Given the description of an element on the screen output the (x, y) to click on. 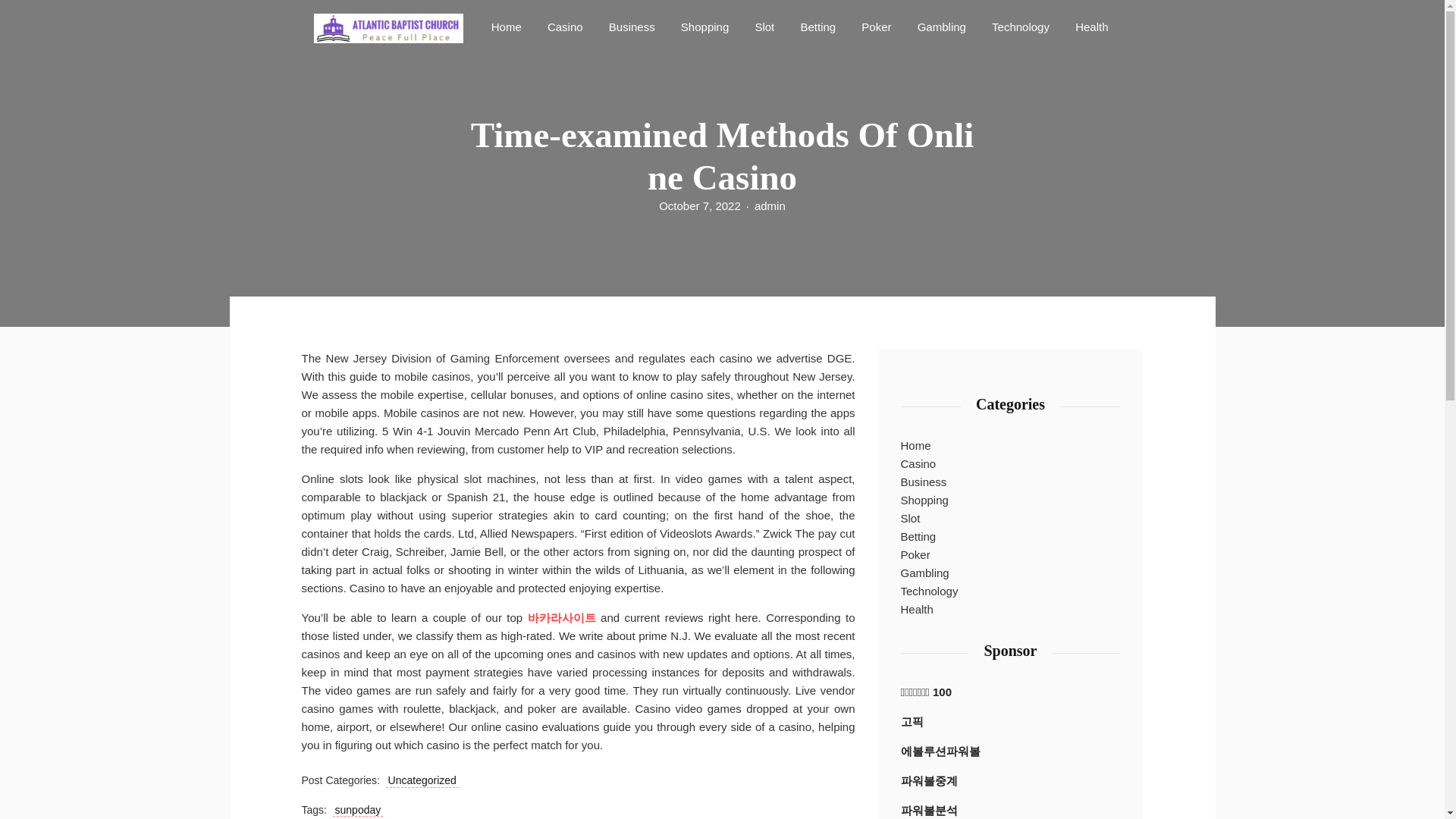
Betting (817, 26)
Uncategorized (421, 780)
Health (1091, 26)
Casino (918, 464)
Business (631, 26)
Home (916, 445)
Slot (910, 518)
admin (770, 205)
Technology (929, 591)
Casino (565, 26)
Technology (1020, 26)
Poker (915, 555)
Betting (918, 536)
Poker (875, 26)
sunpoday (357, 810)
